Given the description of an element on the screen output the (x, y) to click on. 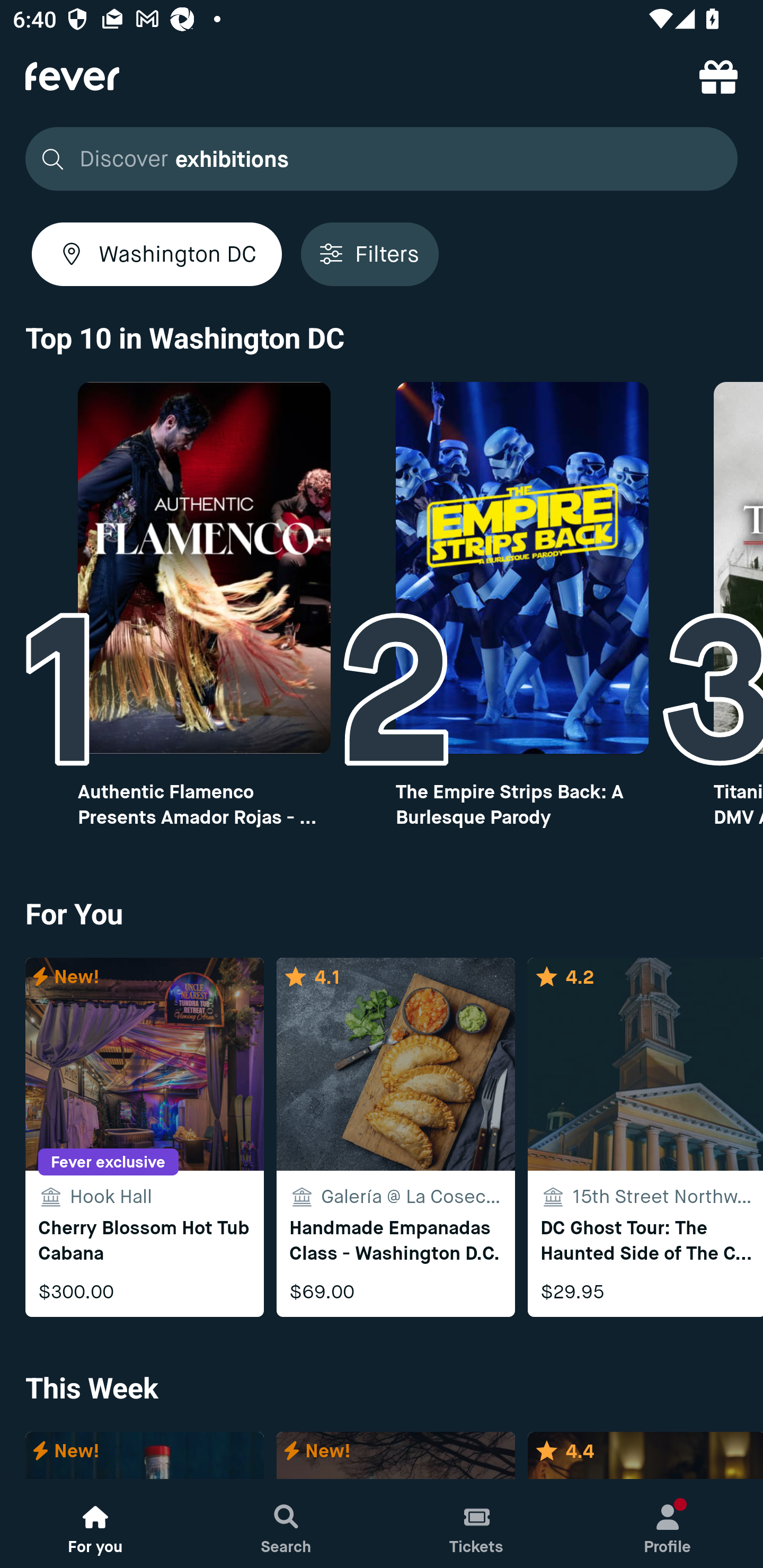
referral (718, 75)
Discover exhibitions (381, 158)
Discover exhibitions (376, 158)
Washington DC (156, 253)
Filters (369, 253)
Top10 image (203, 568)
Top10 image (521, 568)
Search (285, 1523)
Tickets (476, 1523)
Profile, New notification Profile (667, 1523)
